Given the description of an element on the screen output the (x, y) to click on. 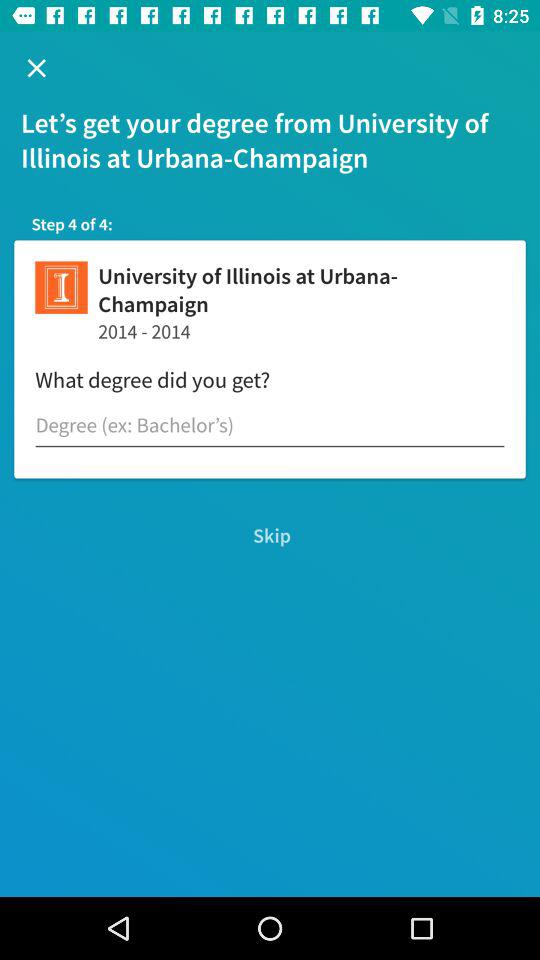
open the item above let s get icon (36, 68)
